Given the description of an element on the screen output the (x, y) to click on. 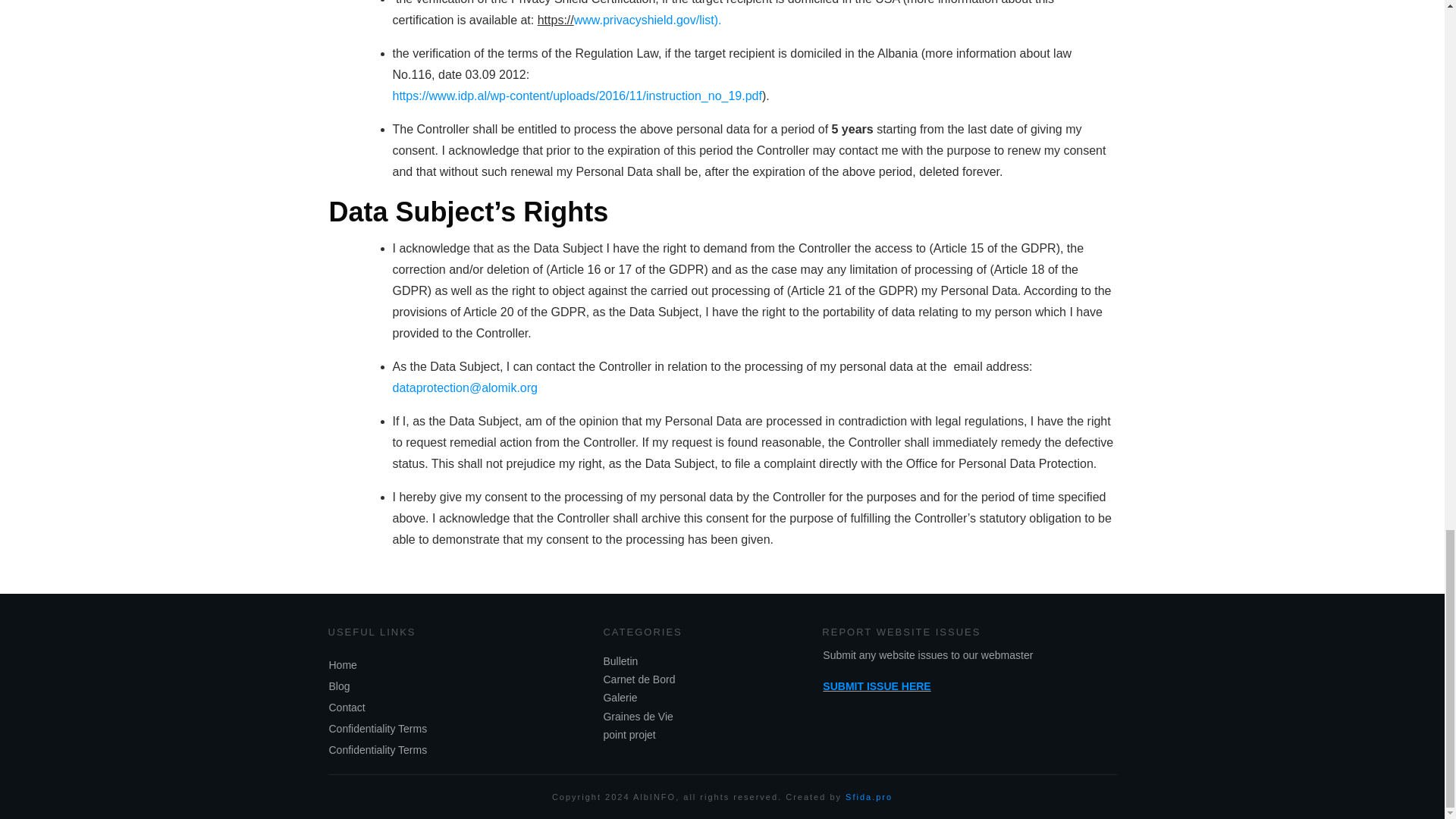
Galerie (619, 697)
Home (342, 664)
Bulletin (619, 660)
Carnet de Bord (638, 678)
Contact (347, 707)
Confidentiality Terms (378, 728)
Graines de Vie (637, 716)
SUBMIT ISSUE HERE (876, 686)
Sfida.pro (868, 796)
Confidentiality Terms (378, 749)
point projet (628, 734)
Blog (339, 686)
